Given the description of an element on the screen output the (x, y) to click on. 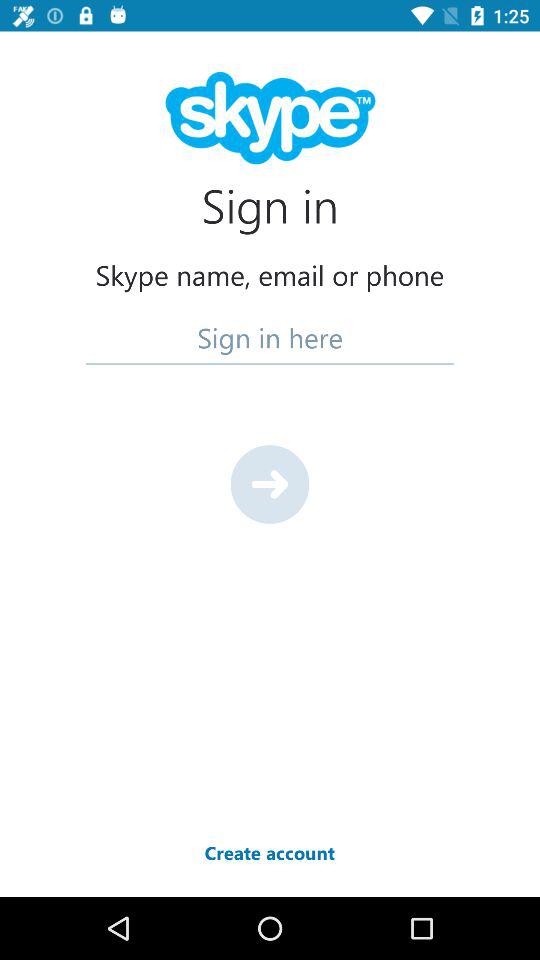
press icon below the skype name email item (269, 336)
